Given the description of an element on the screen output the (x, y) to click on. 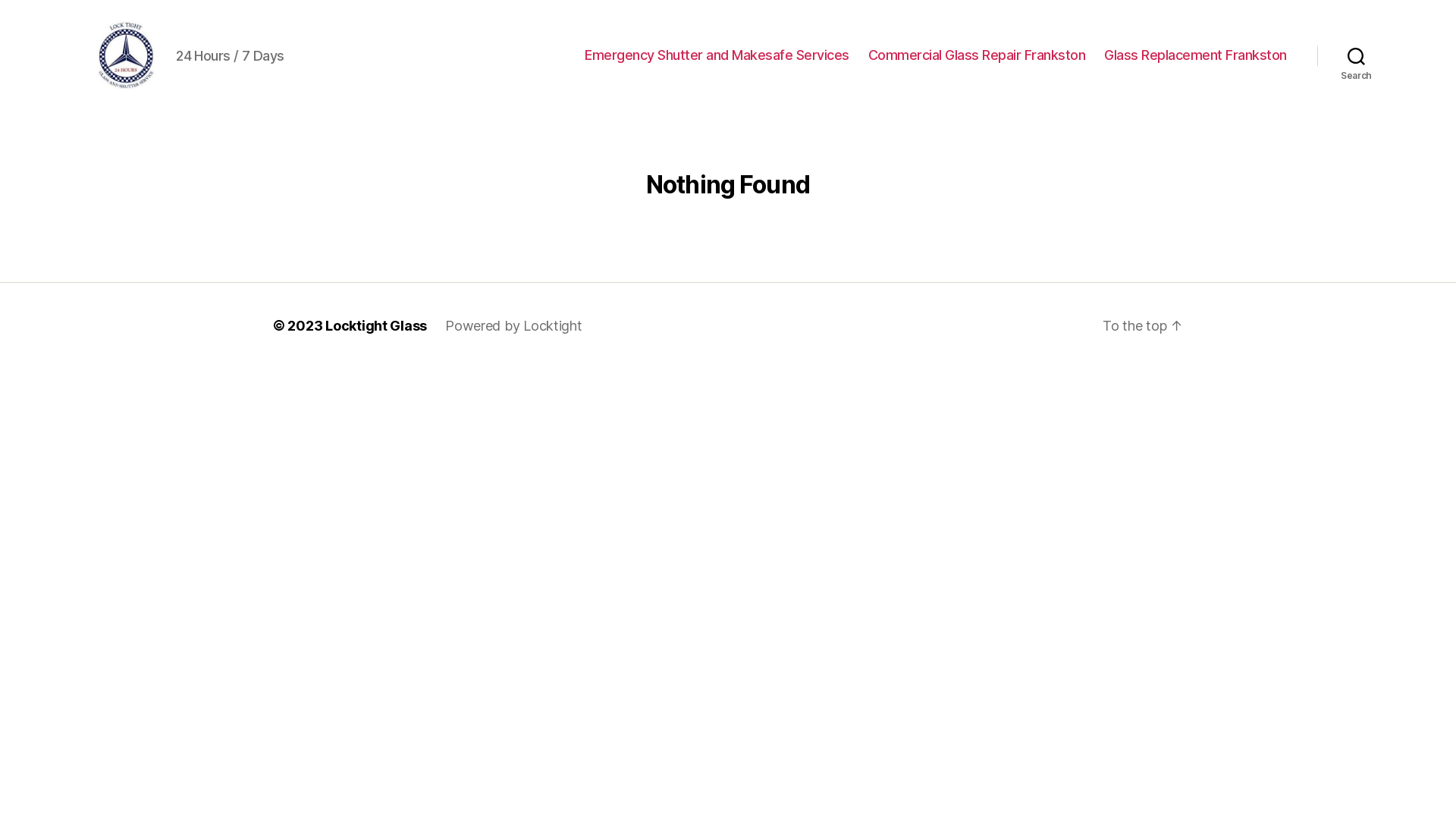
Search Element type: text (1356, 55)
Emergency Shutter and Makesafe Services Element type: text (716, 55)
Glass Replacement Frankston Element type: text (1195, 55)
Powered by Locktight Element type: text (513, 325)
Commercial Glass Repair Frankston Element type: text (976, 55)
Locktight Glass Element type: text (375, 325)
